Given the description of an element on the screen output the (x, y) to click on. 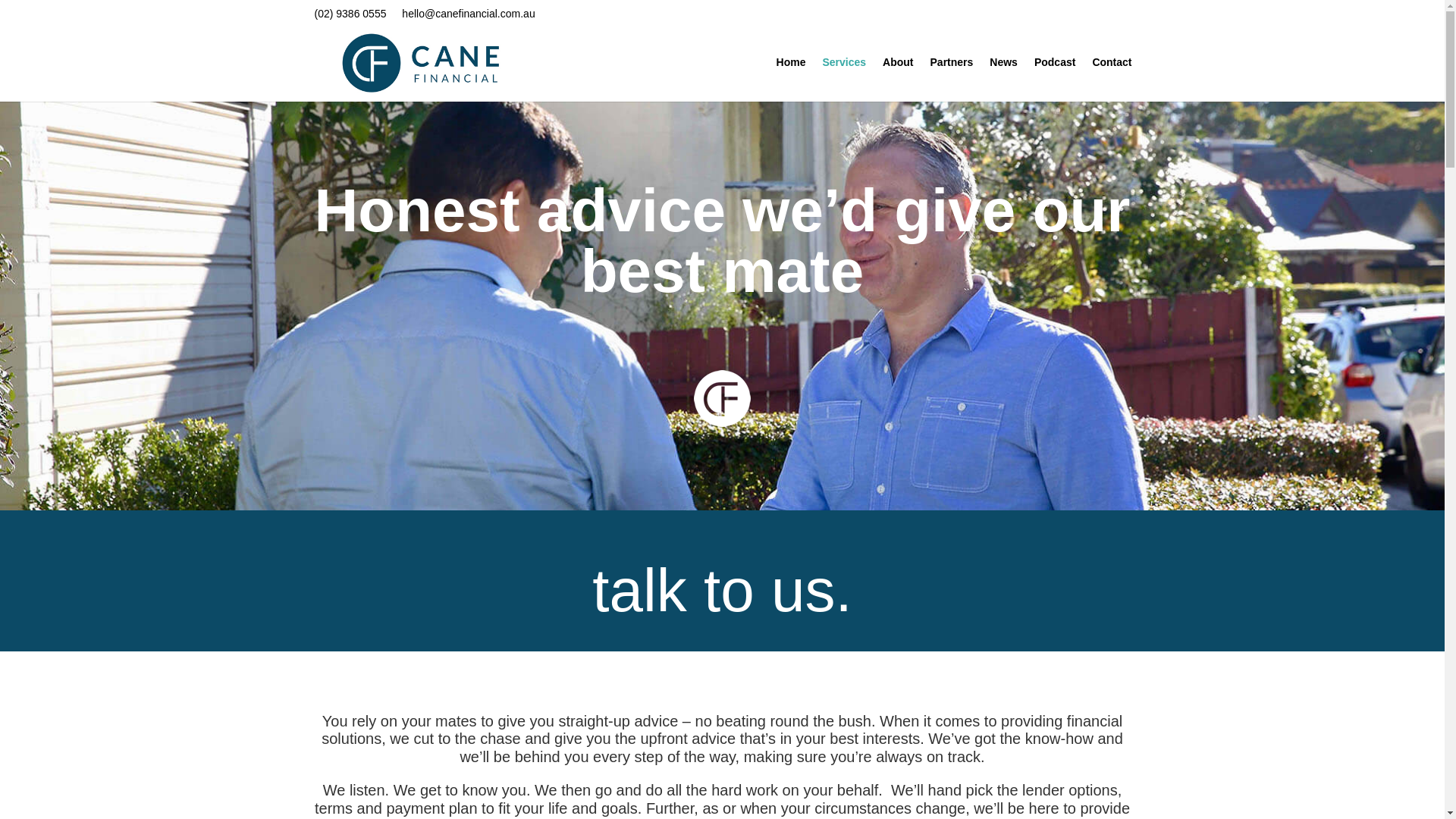
Services (844, 78)
About (897, 78)
Home (791, 78)
Podcast (1054, 78)
Contact (1111, 78)
Partners (952, 78)
News (1003, 78)
